Given the description of an element on the screen output the (x, y) to click on. 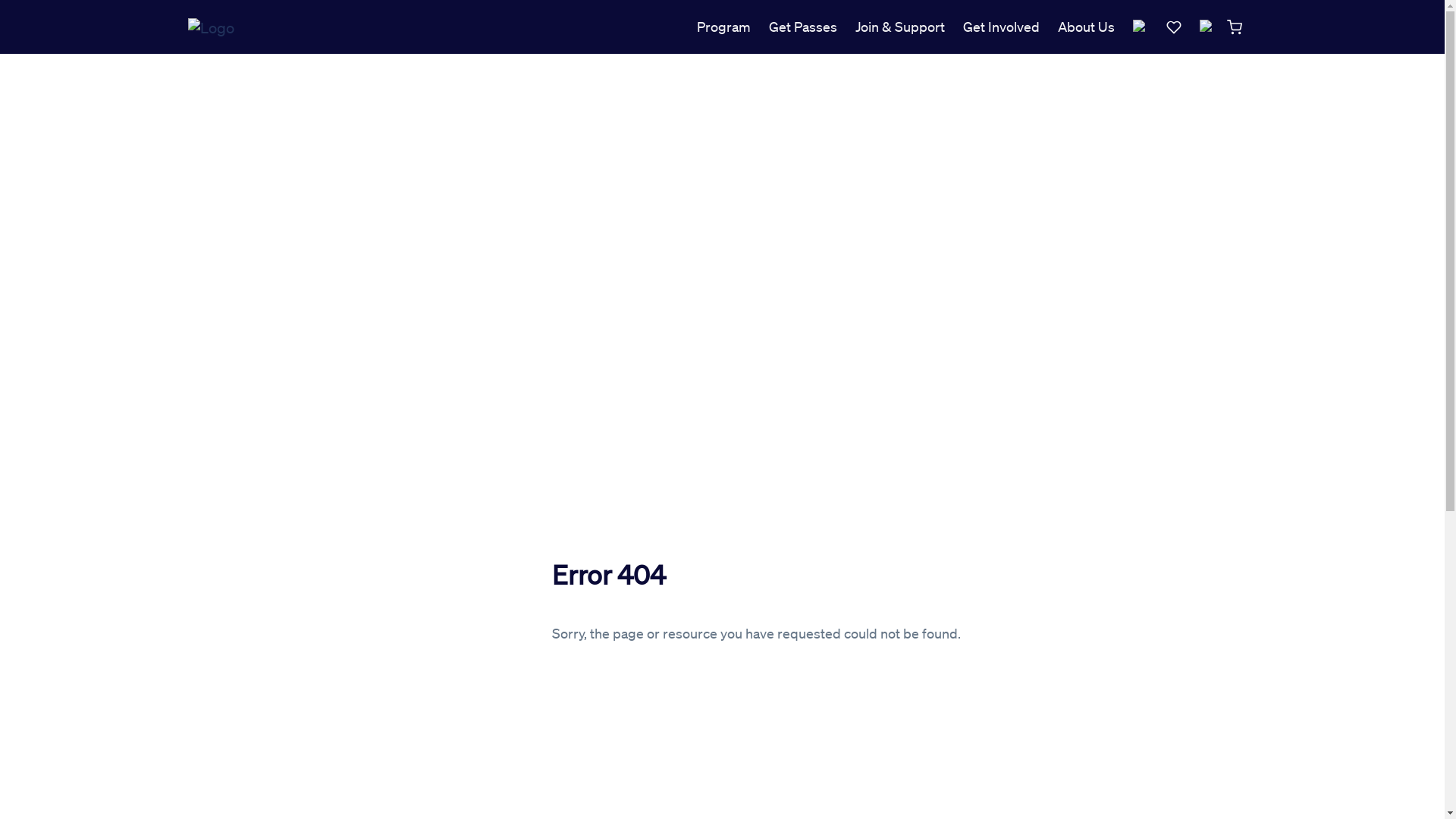
Get Passes Element type: text (802, 26)
About Us Element type: text (1085, 26)
Join & Support Element type: text (899, 26)
Program Element type: text (723, 26)
Get Involved Element type: text (1000, 26)
